Given the description of an element on the screen output the (x, y) to click on. 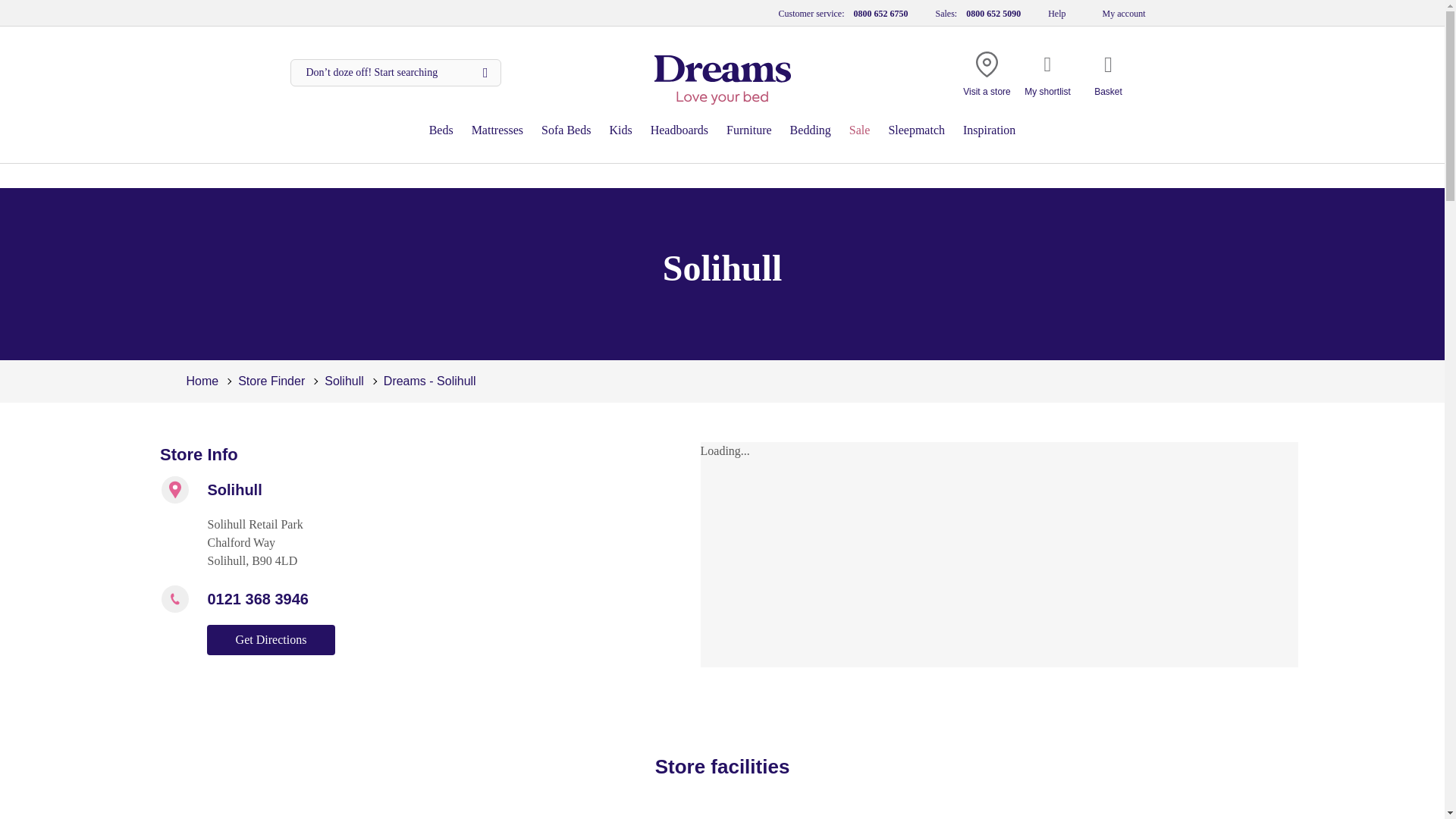
Visit a store (986, 76)
0800 652 6750 (880, 12)
Customer reviews powered by Trustpilot (349, 11)
Beds (440, 130)
0800 652 5090 (992, 12)
My account (1123, 12)
Help (1056, 12)
Help (1056, 12)
Basket (1108, 77)
My shortlist (1047, 77)
Beds (440, 130)
Search (395, 72)
